Given the description of an element on the screen output the (x, y) to click on. 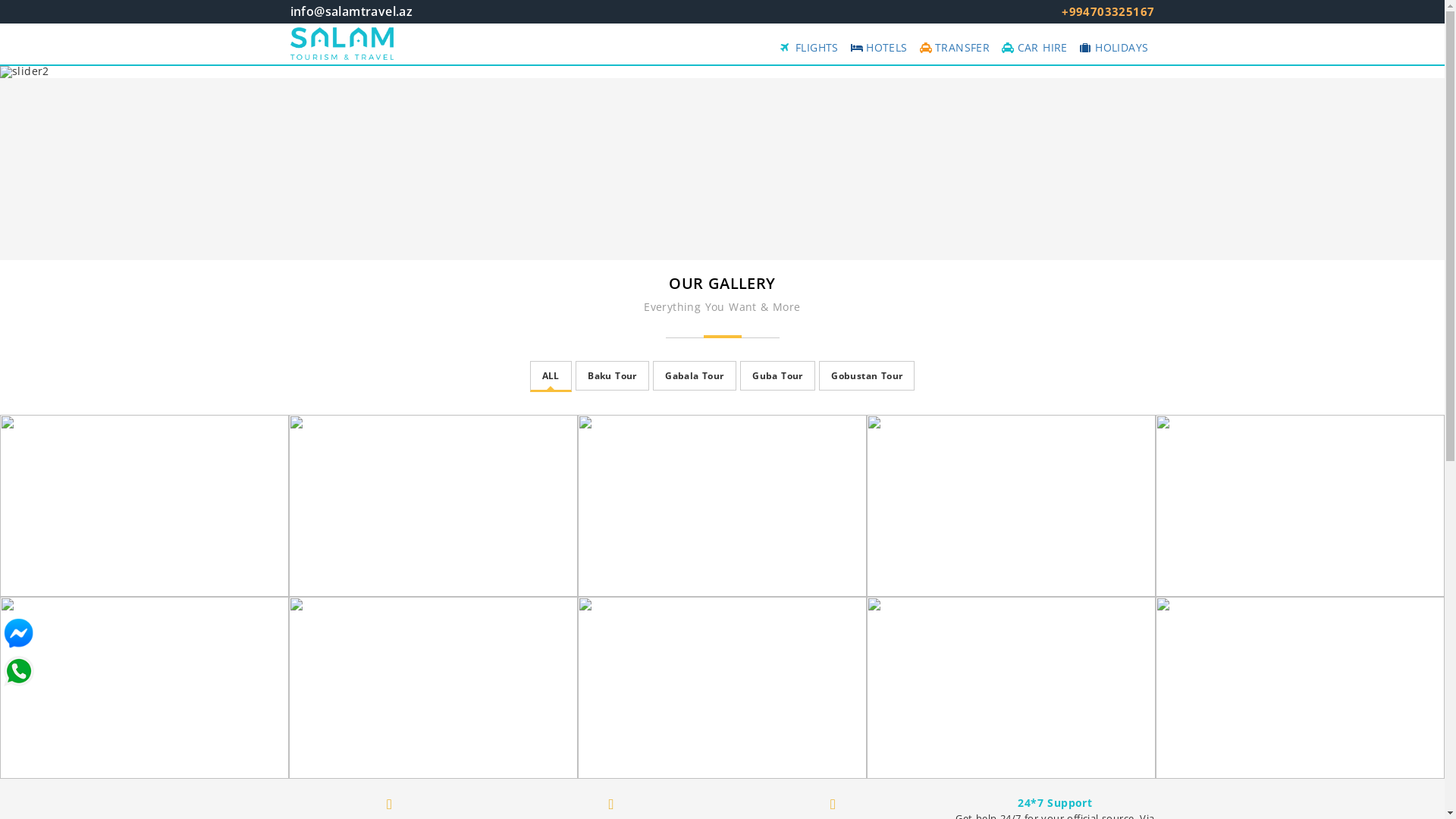
 HOTELS Element type: text (878, 47)
 CAR HIRE Element type: text (1034, 47)
 TRANSFER Element type: text (954, 47)
 FLIGHTS Element type: text (809, 47)
+994703325167 Element type: text (1107, 11)
info@salamtravel.az Element type: text (350, 11)
 HOLIDAYS Element type: text (1113, 47)
